Given the description of an element on the screen output the (x, y) to click on. 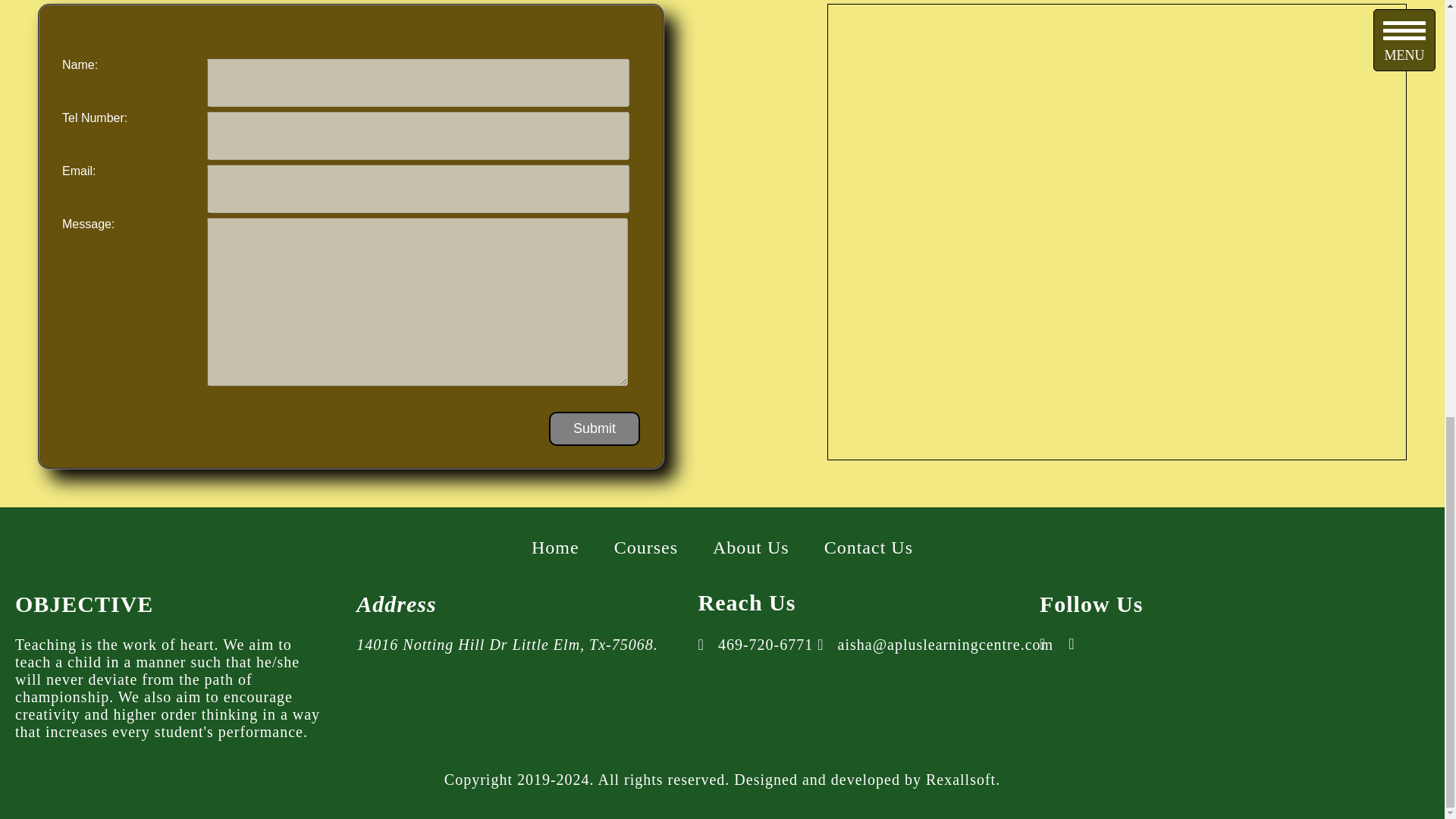
Home (555, 546)
About Us (751, 546)
Rexallsoft. (963, 779)
Courses (646, 546)
Submit (594, 428)
Contact Us (868, 546)
Submit (594, 428)
